Given the description of an element on the screen output the (x, y) to click on. 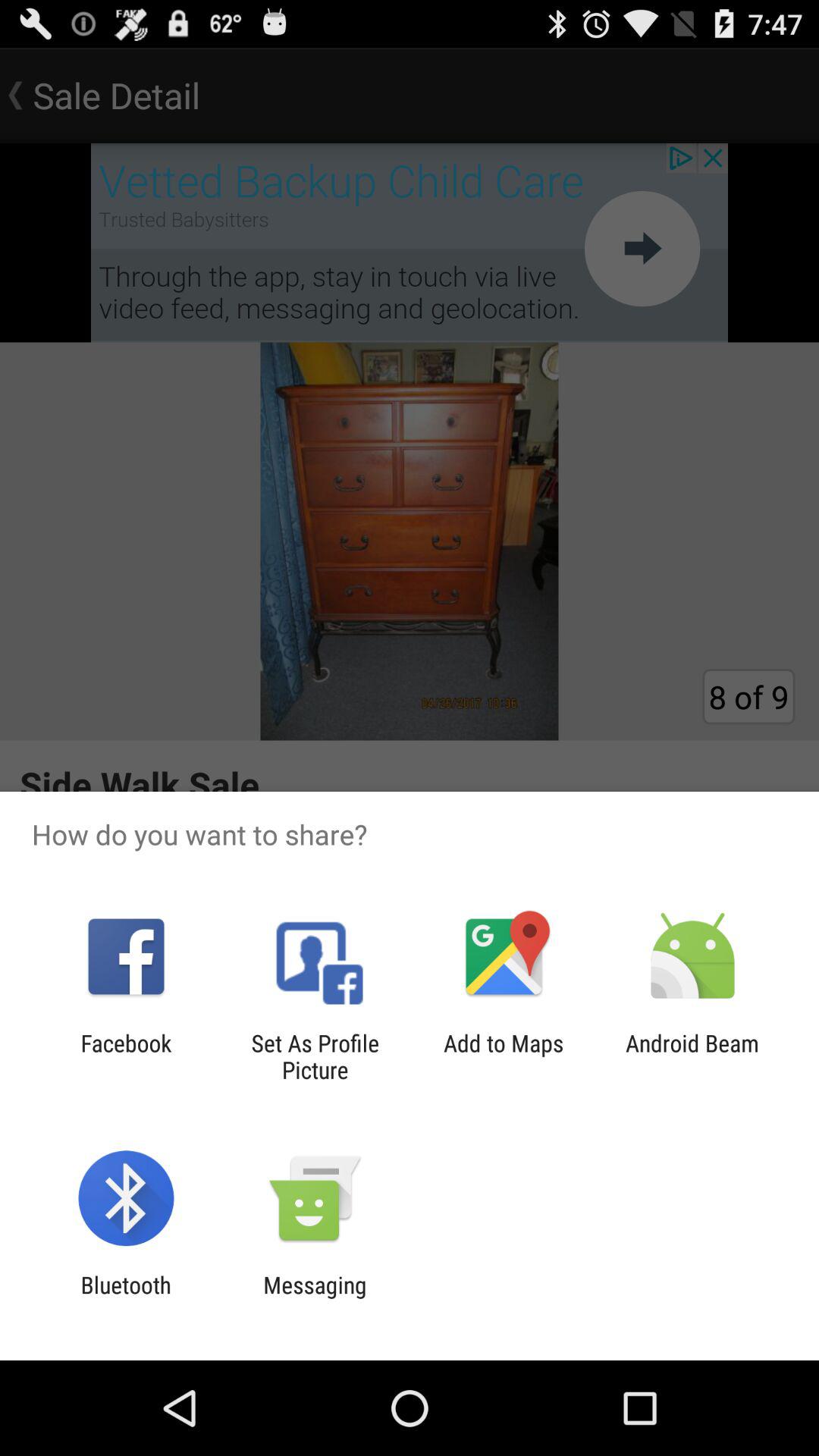
flip until the android beam item (692, 1056)
